Given the description of an element on the screen output the (x, y) to click on. 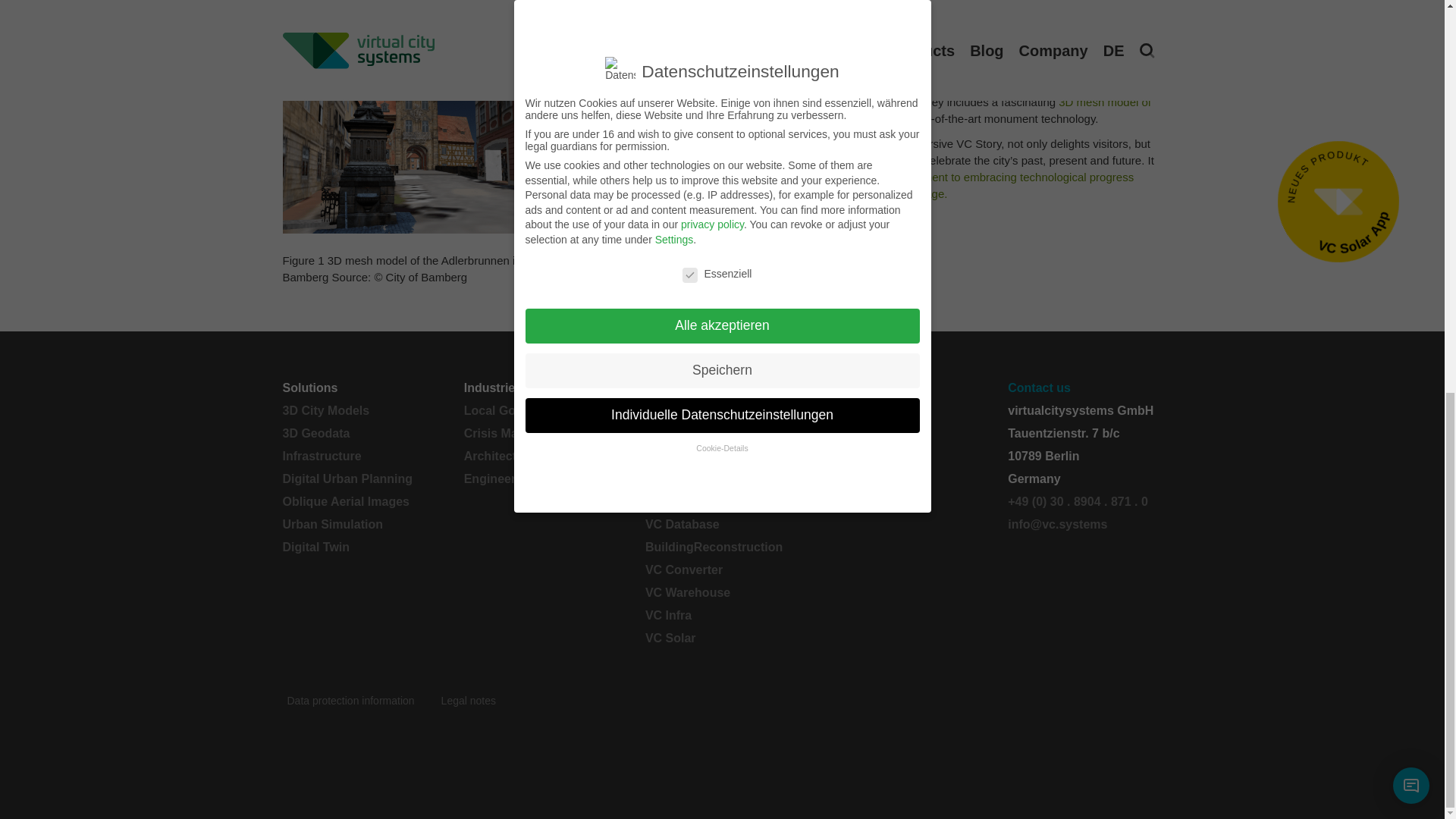
3D City Models (356, 410)
VC Story Bamberg (821, 232)
